Given the description of an element on the screen output the (x, y) to click on. 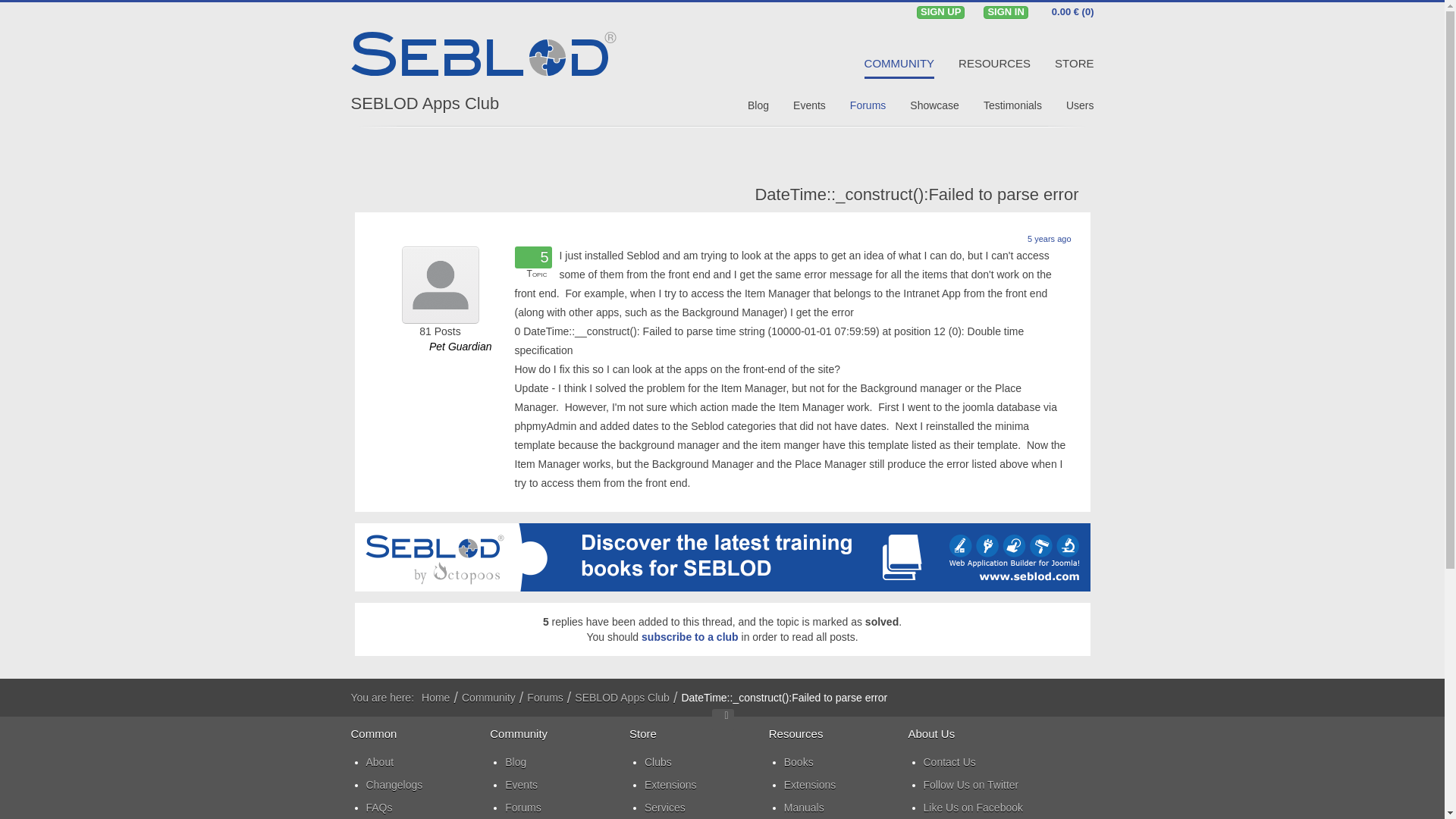
Pet Guardian (460, 346)
Community (488, 697)
Blog (758, 105)
FAQs (427, 807)
Events (809, 105)
SIGN UP (940, 11)
Blog (566, 762)
SEBLOD Apps Club (424, 103)
Changelogs (427, 784)
5 (536, 257)
STORE (1073, 63)
Testimonials (1013, 105)
Books (846, 762)
COMMUNITY (899, 63)
SIGN IN (1005, 11)
